Given the description of an element on the screen output the (x, y) to click on. 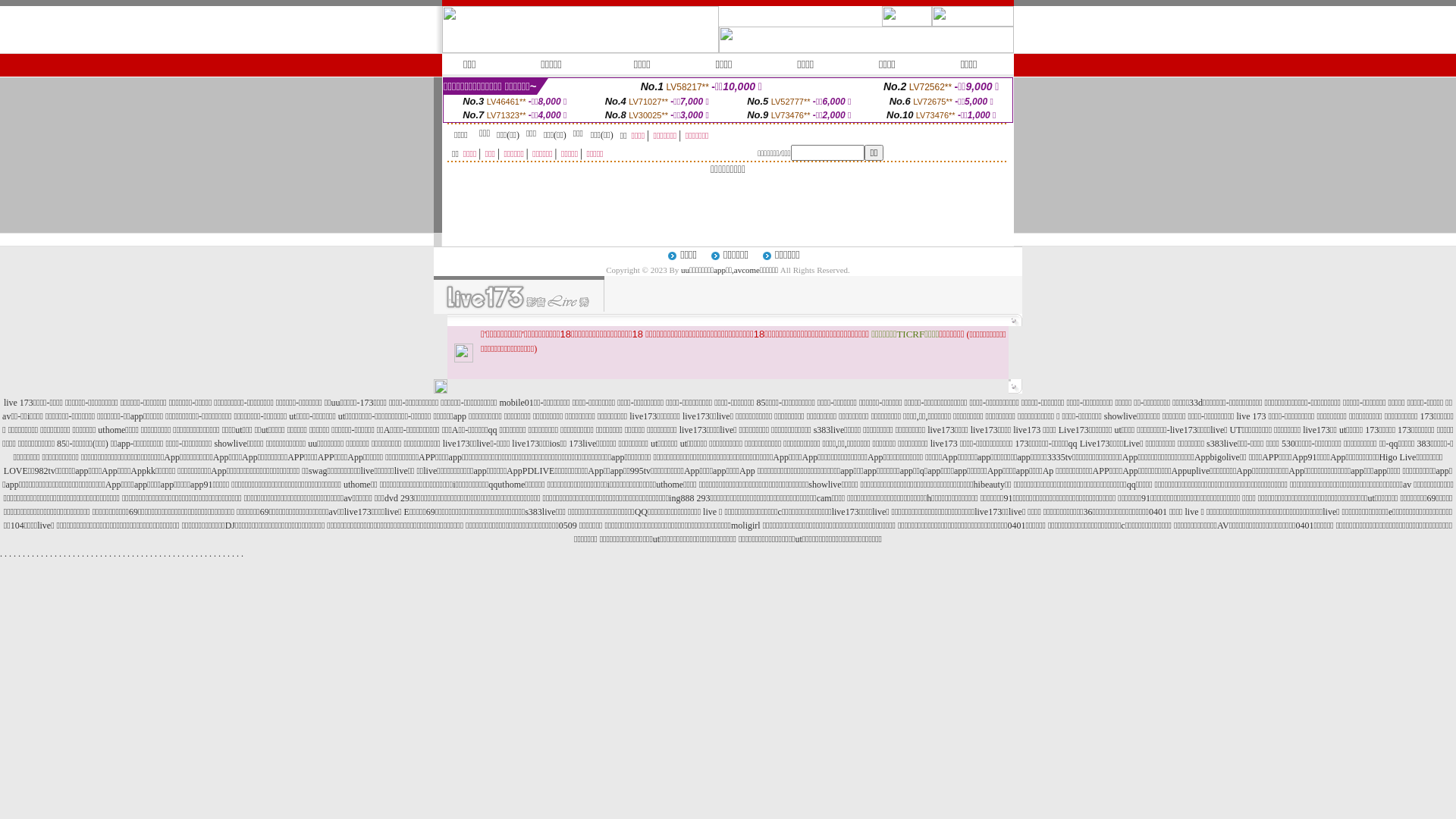
. Element type: text (10, 553)
. Element type: text (60, 553)
. Element type: text (82, 553)
. Element type: text (192, 553)
. Element type: text (173, 553)
. Element type: text (242, 553)
. Element type: text (87, 553)
. Element type: text (214, 553)
. Element type: text (137, 553)
. Element type: text (151, 553)
. Element type: text (51, 553)
. Element type: text (105, 553)
. Element type: text (41, 553)
. Element type: text (5, 553)
. Element type: text (110, 553)
. Element type: text (228, 553)
. Element type: text (142, 553)
. Element type: text (69, 553)
. Element type: text (155, 553)
. Element type: text (223, 553)
. Element type: text (205, 553)
. Element type: text (187, 553)
. Element type: text (146, 553)
. Element type: text (92, 553)
. Element type: text (128, 553)
. Element type: text (233, 553)
. Element type: text (101, 553)
. Element type: text (28, 553)
. Element type: text (32, 553)
. Element type: text (19, 553)
. Element type: text (219, 553)
. Element type: text (160, 553)
. Element type: text (123, 553)
. Element type: text (96, 553)
. Element type: text (23, 553)
. Element type: text (55, 553)
. Element type: text (37, 553)
. Element type: text (114, 553)
. Element type: text (164, 553)
. Element type: text (64, 553)
. Element type: text (73, 553)
. Element type: text (237, 553)
. Element type: text (78, 553)
. Element type: text (169, 553)
. Element type: text (201, 553)
. Element type: text (178, 553)
. Element type: text (196, 553)
. Element type: text (46, 553)
. Element type: text (132, 553)
. Element type: text (210, 553)
. Element type: text (183, 553)
. Element type: text (1, 553)
. Element type: text (14, 553)
. Element type: text (119, 553)
